Given the description of an element on the screen output the (x, y) to click on. 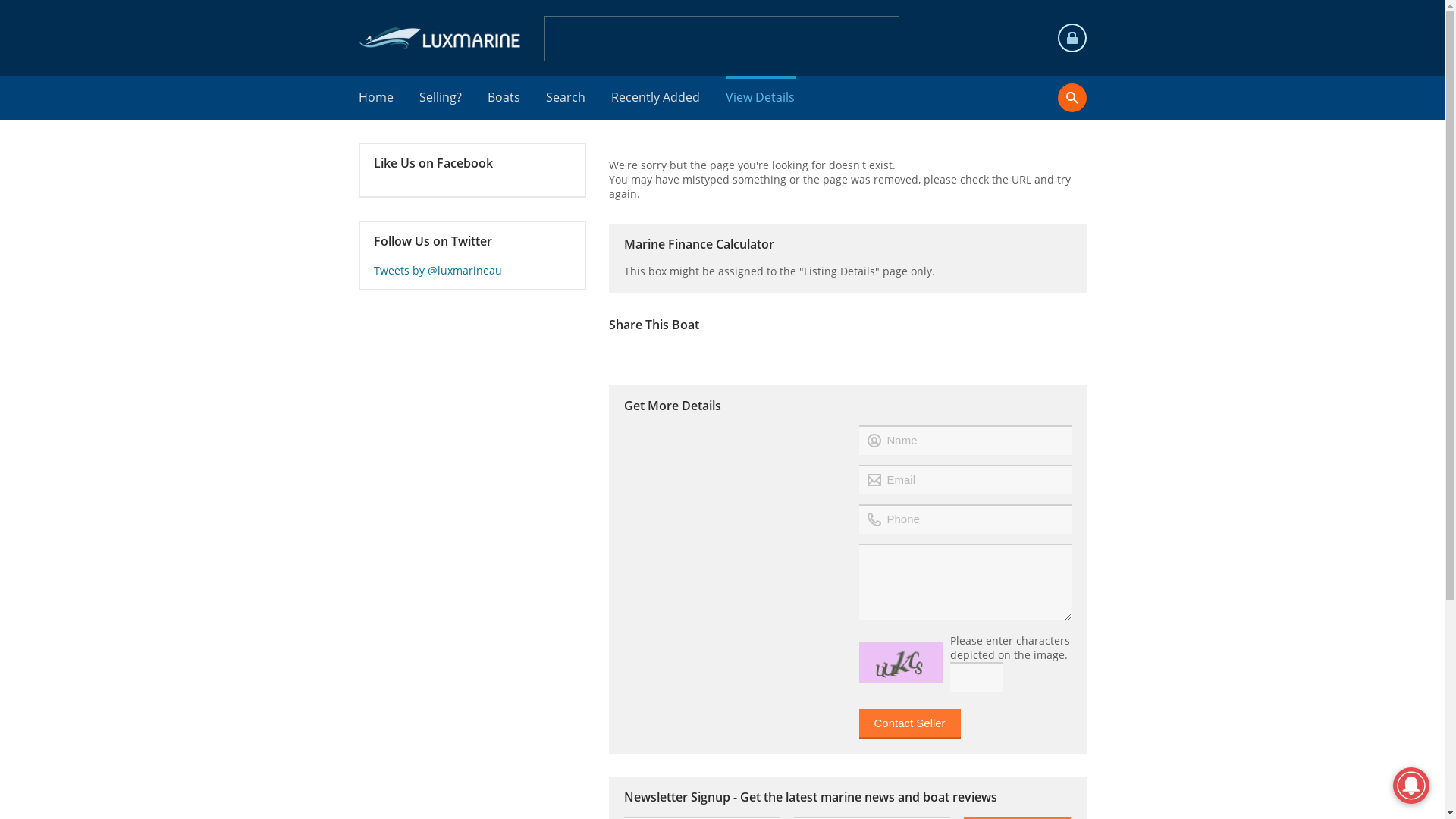
Click on the image to refresh the captcha. Element type: hover (899, 662)
Home Element type: text (375, 97)
LuxMarine - Boat Sales & Classifieds Element type: hover (440, 38)
Search Element type: text (566, 97)
Boats Element type: text (503, 97)
Contact Seller Element type: text (909, 723)
Recently Added Element type: text (656, 97)
Selling? Element type: text (440, 97)
Tweets by @luxmarineau Element type: text (437, 270)
View Details Element type: text (759, 97)
